Given the description of an element on the screen output the (x, y) to click on. 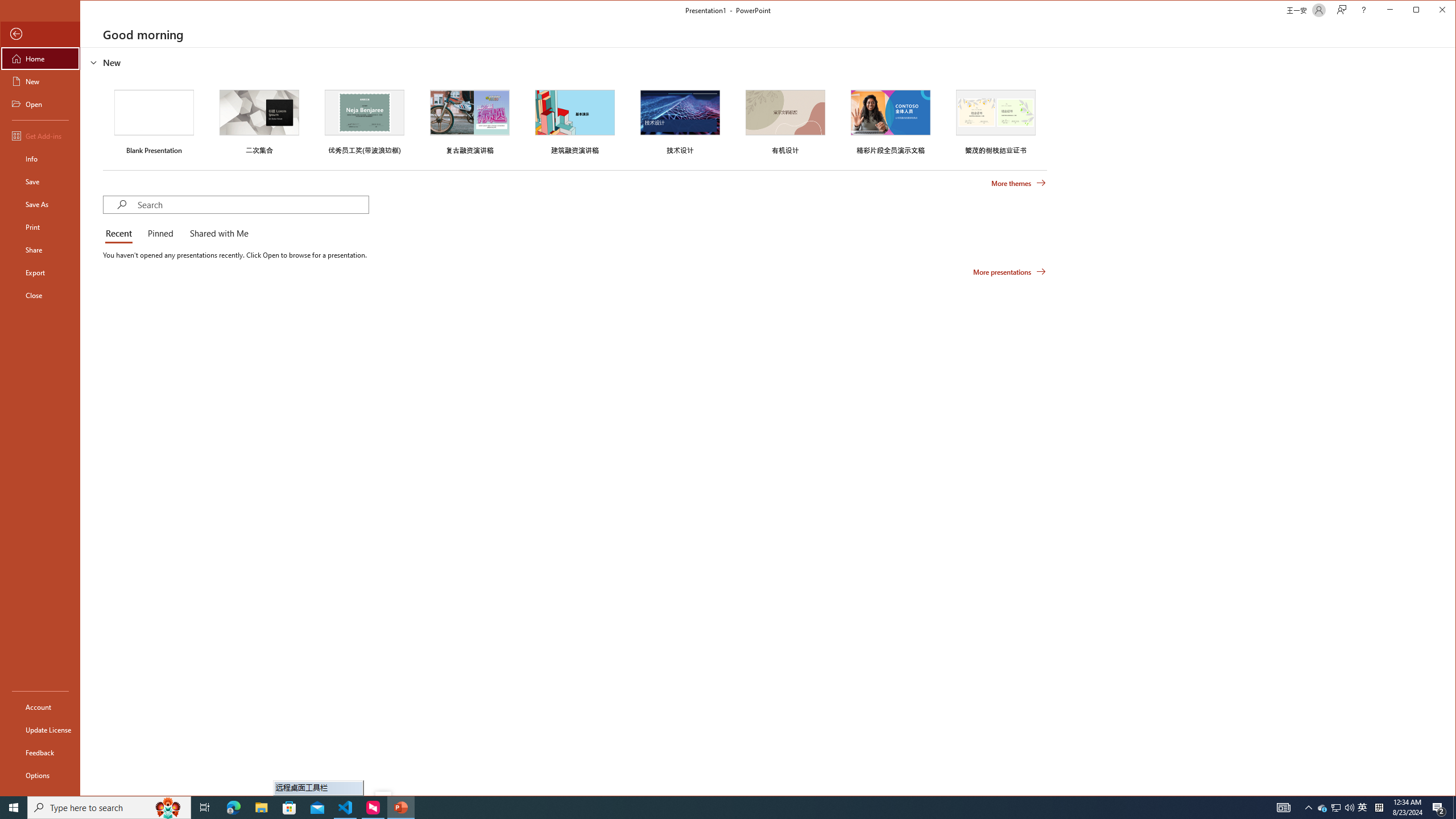
Print (40, 226)
Options (40, 775)
